Given the description of an element on the screen output the (x, y) to click on. 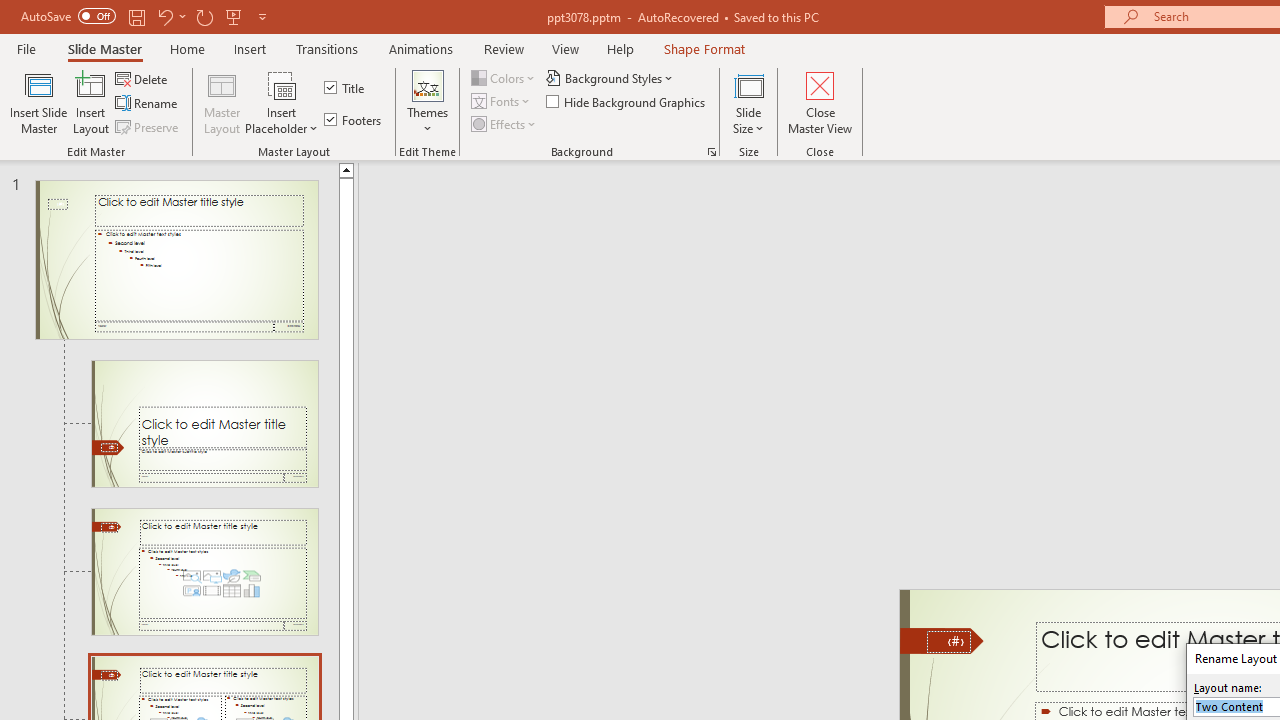
Insert Note (267, 161)
Undo <ApplyStyleToDoc>b__0 (280, 31)
Refresh (370, 161)
Add/Edit Citation (68, 161)
Add/Edit Bibliography (164, 161)
